Given the description of an element on the screen output the (x, y) to click on. 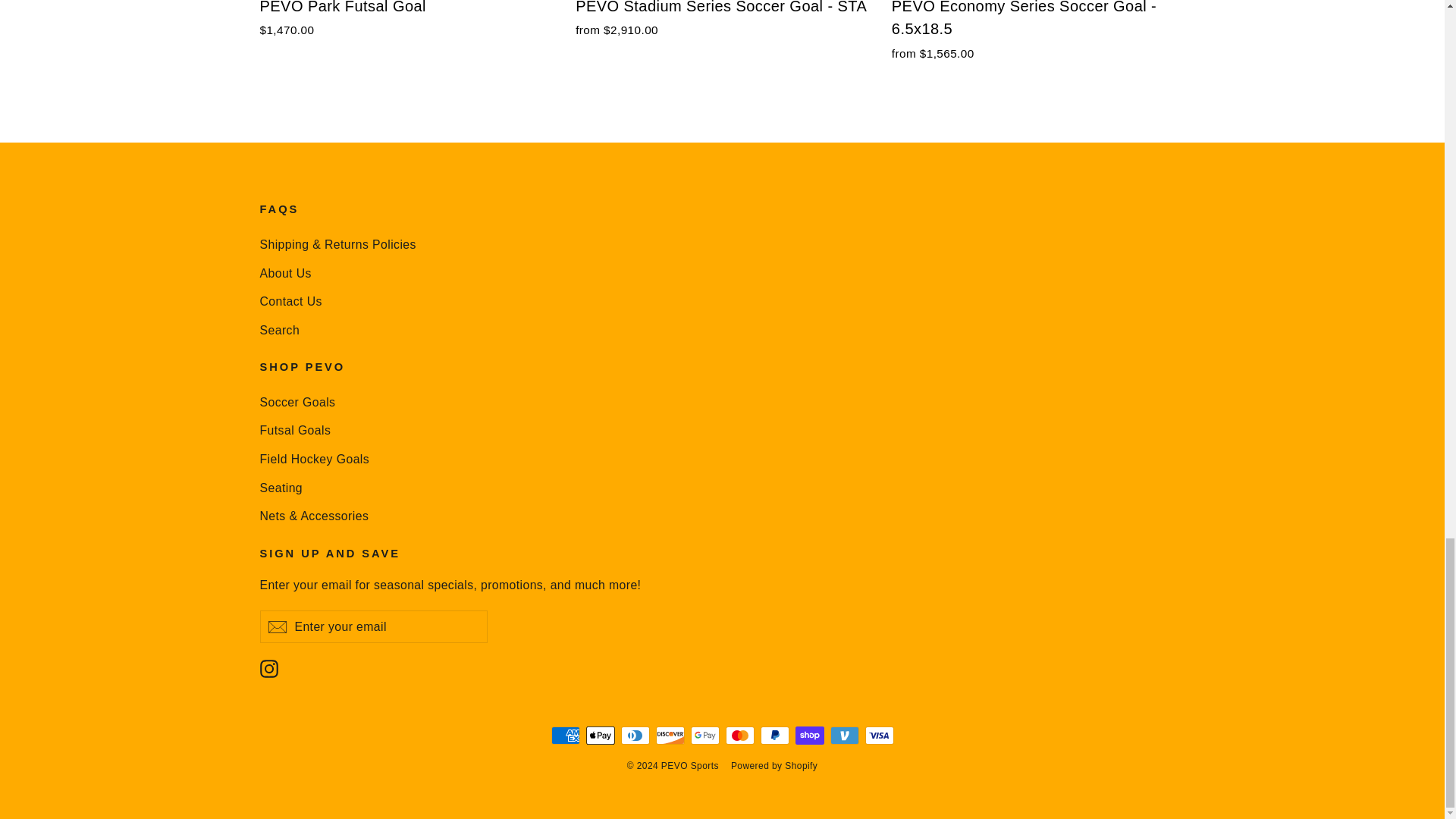
American Express (564, 735)
icon-email (276, 627)
instagram (268, 669)
Apple Pay (599, 735)
